Given the description of an element on the screen output the (x, y) to click on. 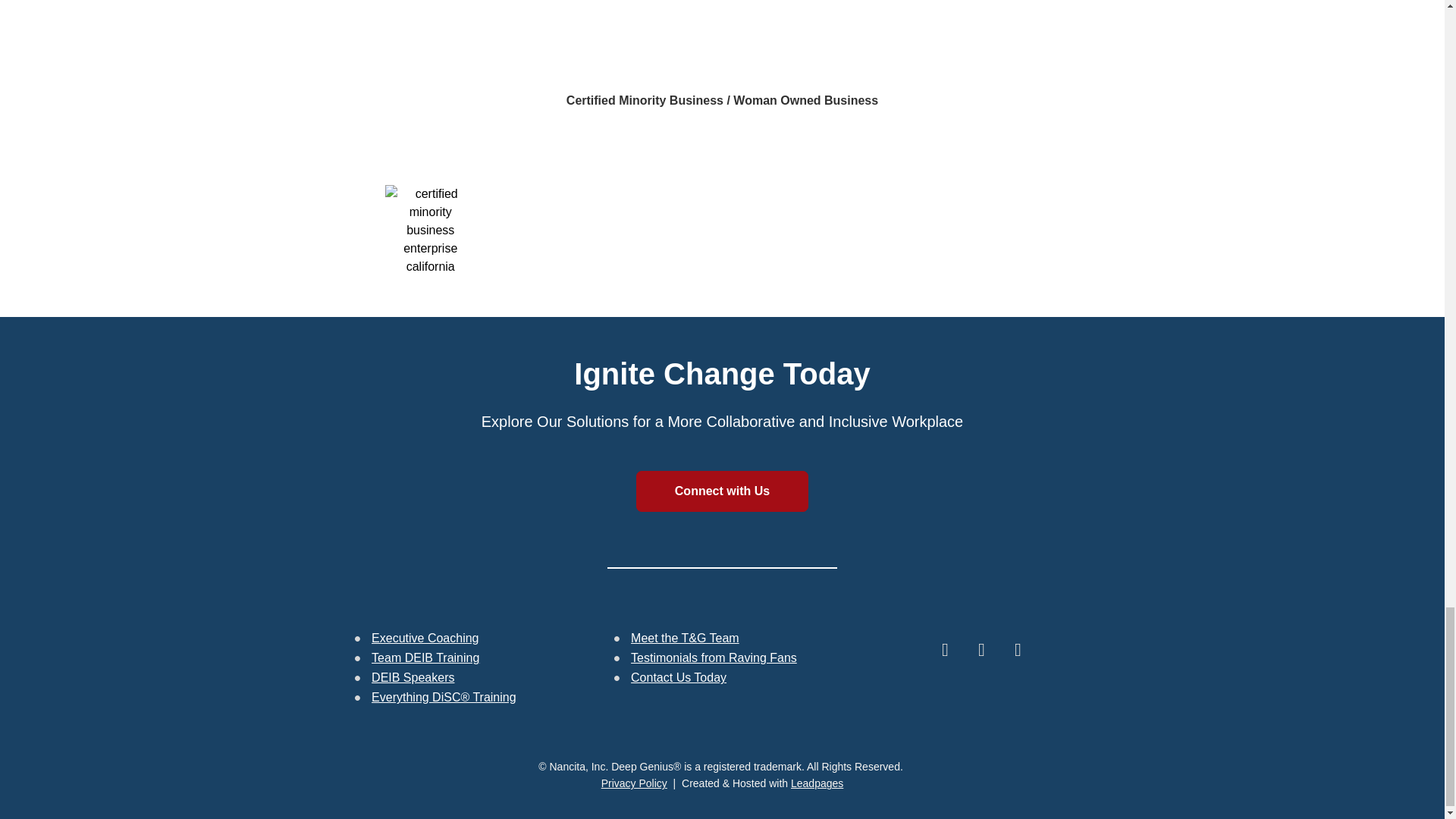
DEIB Speakers (412, 676)
Contact Us Today (678, 676)
Share on LinkedIn (944, 649)
Executive Coaching (425, 637)
Testimonials from Raving Fans (713, 657)
Privacy Policy (633, 783)
Team DEIB Training (425, 657)
Share on Facebook (1016, 649)
Connect with Us (722, 490)
Share on Instagram (980, 649)
Leadpages (816, 783)
